Given the description of an element on the screen output the (x, y) to click on. 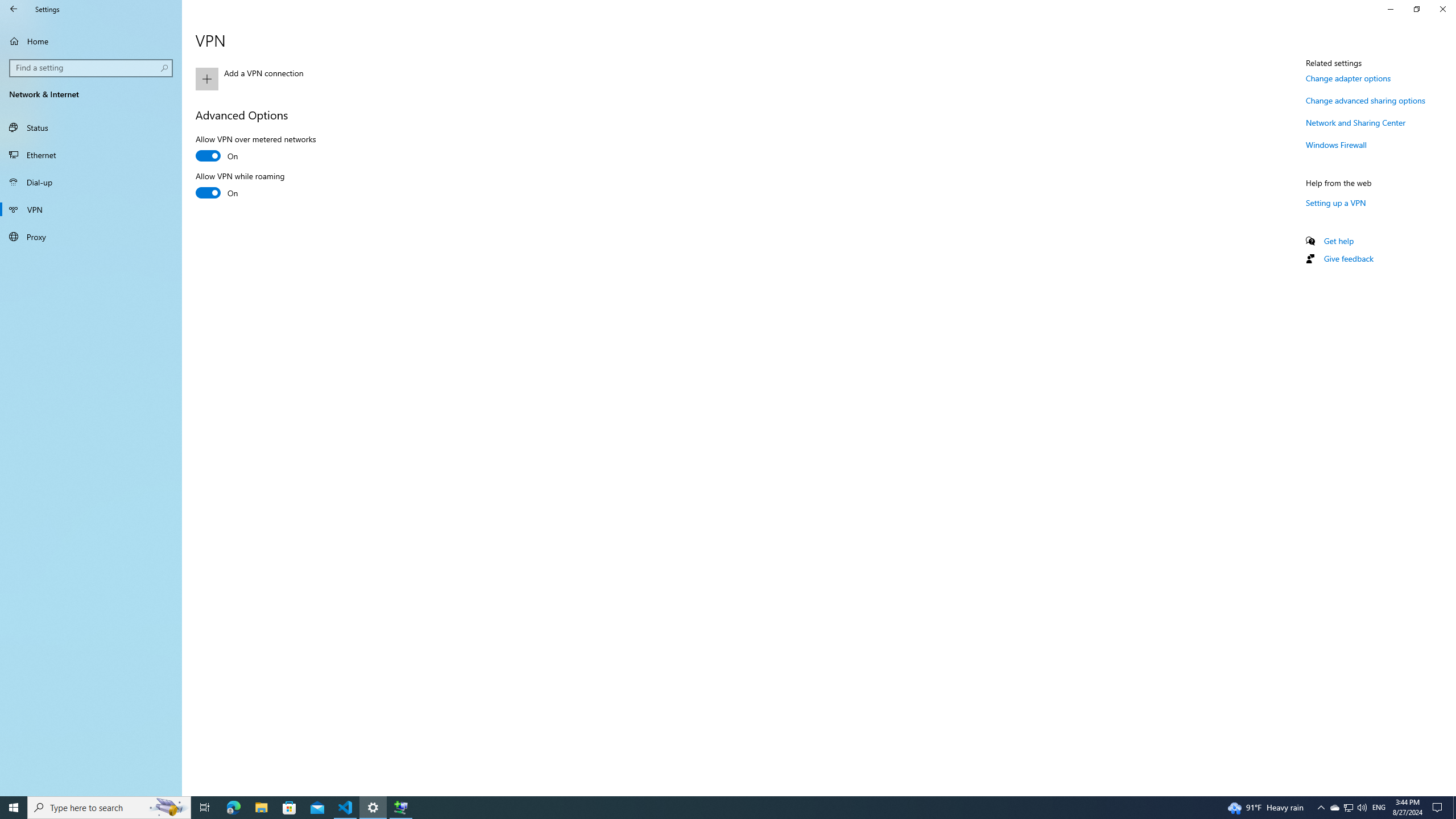
Dial-up (91, 181)
Ethernet (91, 154)
Give feedback (1348, 258)
Extensible Wizards Host Process - 1 running window (400, 807)
Allow VPN while roaming (240, 186)
VPN (91, 208)
Change adapter options (1348, 77)
